Given the description of an element on the screen output the (x, y) to click on. 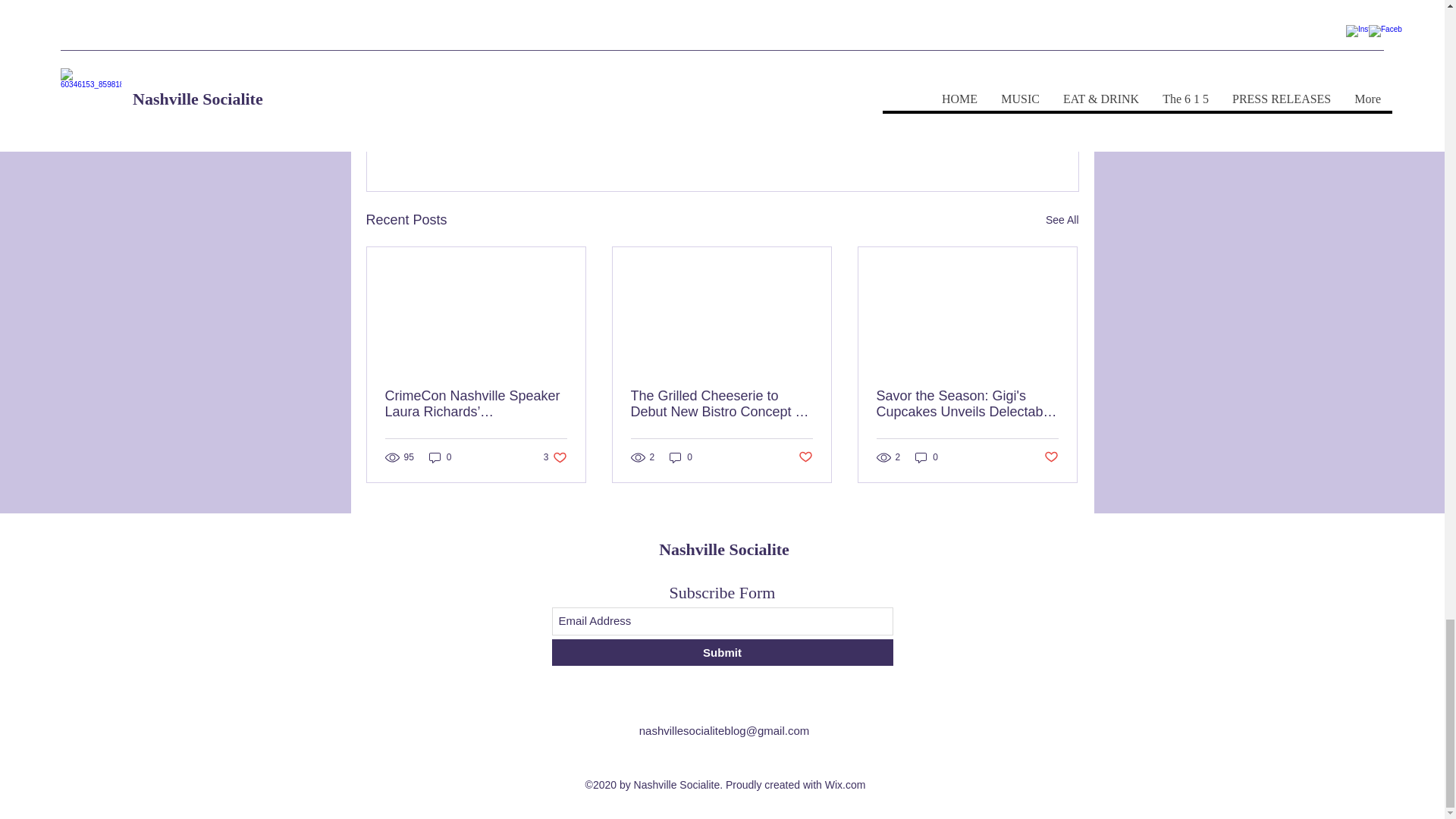
southalltn.com (647, 20)
News (989, 92)
See All (1061, 219)
Post not marked as liked (995, 137)
